Given the description of an element on the screen output the (x, y) to click on. 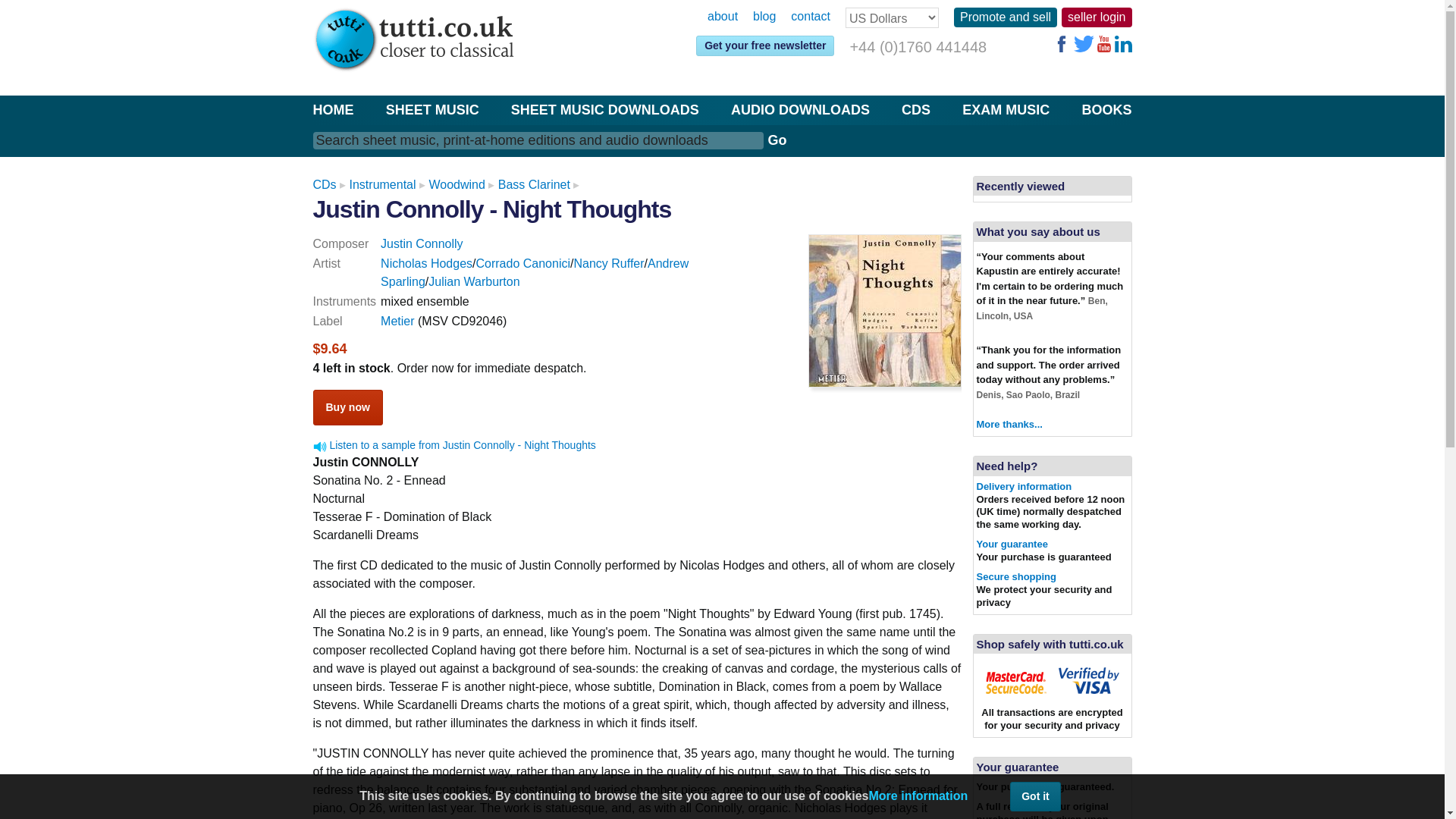
Metier (396, 320)
blog (764, 17)
Woodwind (456, 184)
SHEET MUSIC (432, 109)
SHEET MUSIC DOWNLOADS (604, 109)
HOME (333, 109)
Instrumental (382, 184)
contact (809, 17)
CDs (324, 184)
Nicholas Hodges (425, 263)
CDS (915, 109)
Promote and sell (1005, 17)
Bass Clarinet (533, 184)
Justin Connolly (421, 243)
AUDIO DOWNLOADS (799, 109)
